Given the description of an element on the screen output the (x, y) to click on. 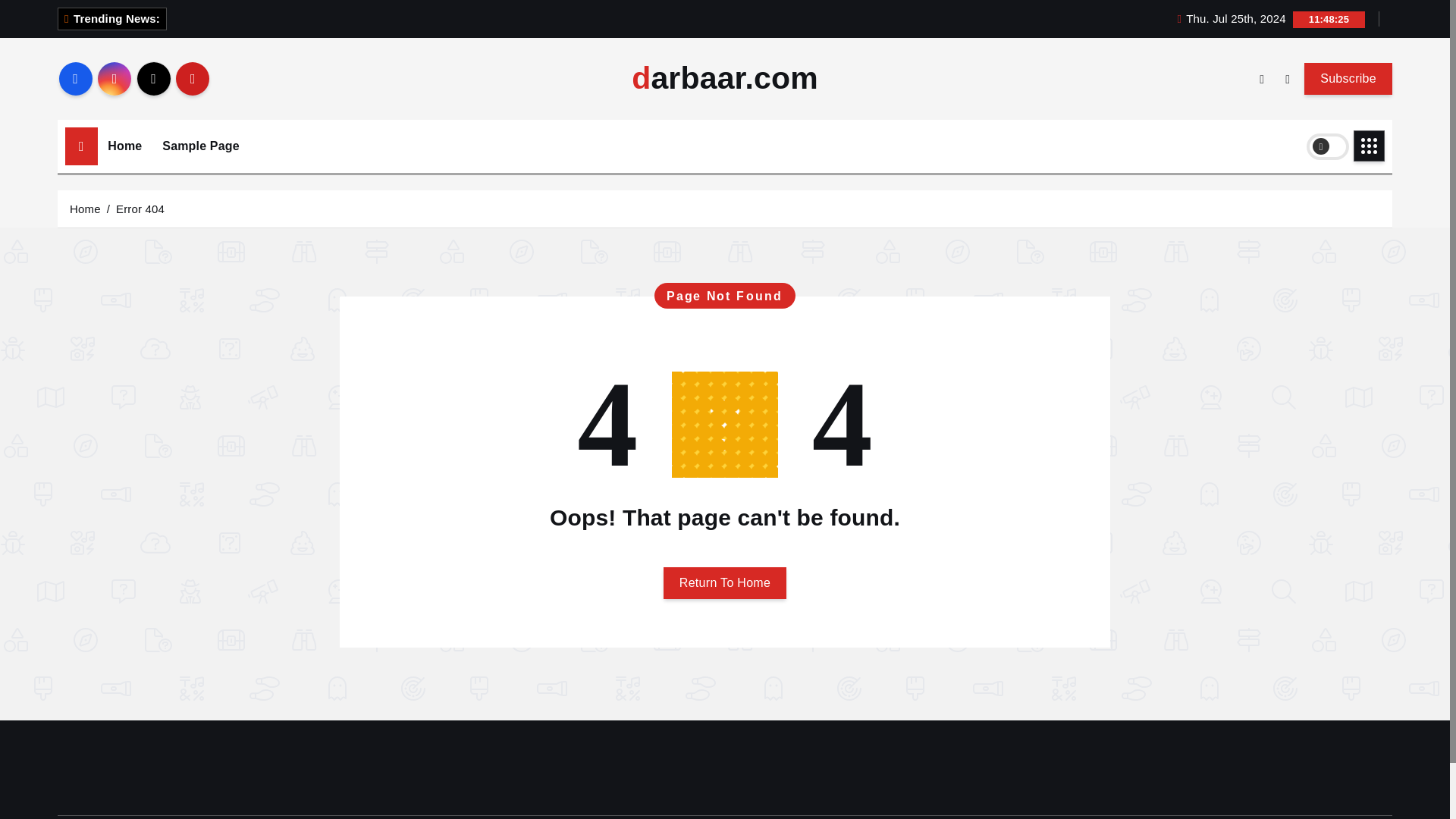
Error 404 (140, 207)
Subscribe (1347, 78)
Sample Page (200, 146)
Home (84, 207)
Home (124, 146)
Return To Home (724, 582)
Home (124, 146)
darbaar.com (724, 78)
